Given the description of an element on the screen output the (x, y) to click on. 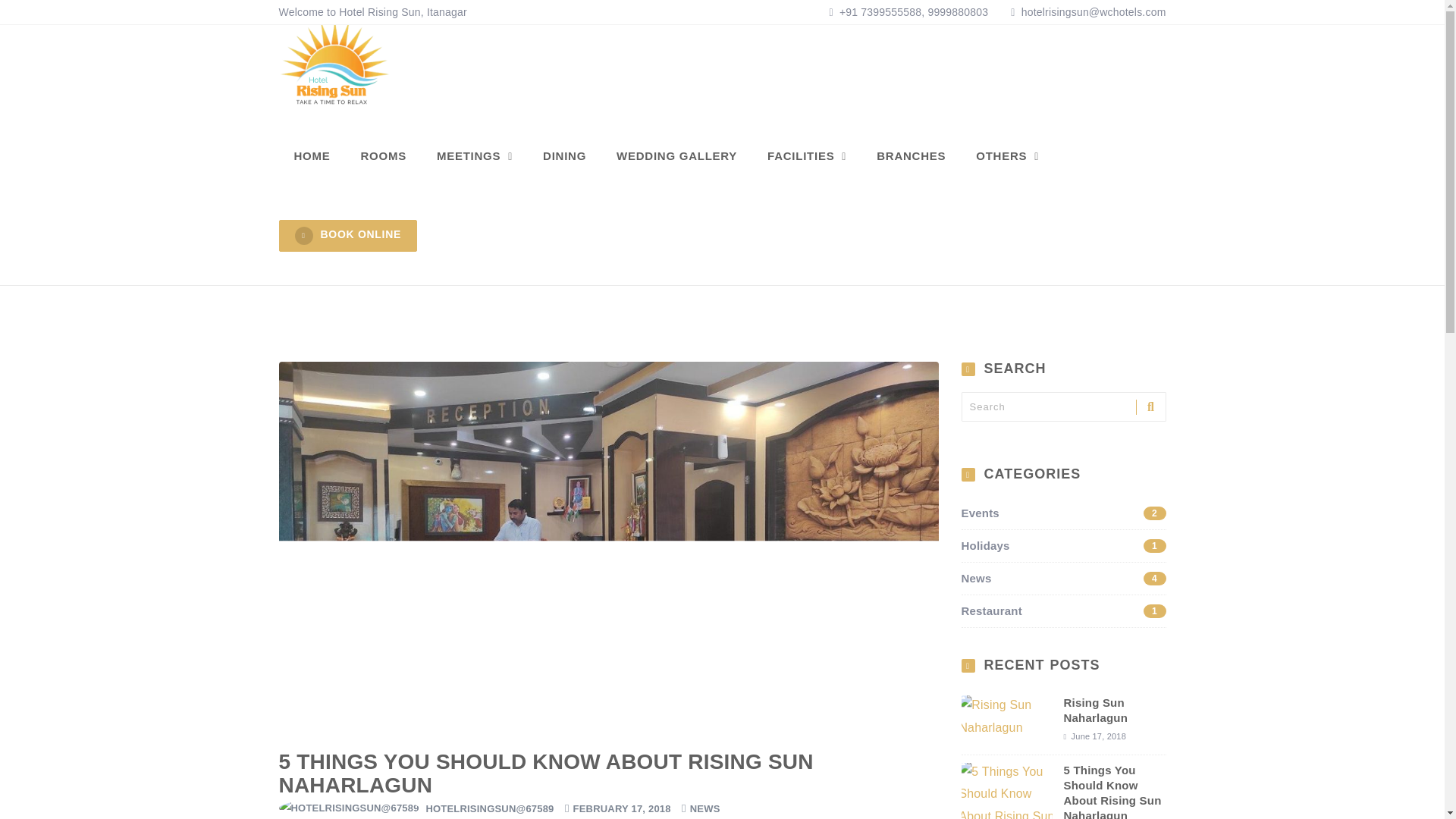
DINING (564, 156)
WEDDING GALLERY (1063, 545)
MEETINGS (676, 156)
OTHERS (1063, 578)
Rising Sun Naharlagun (474, 156)
BRANCHES (1063, 610)
BOOK ONLINE (1007, 156)
